Given the description of an element on the screen output the (x, y) to click on. 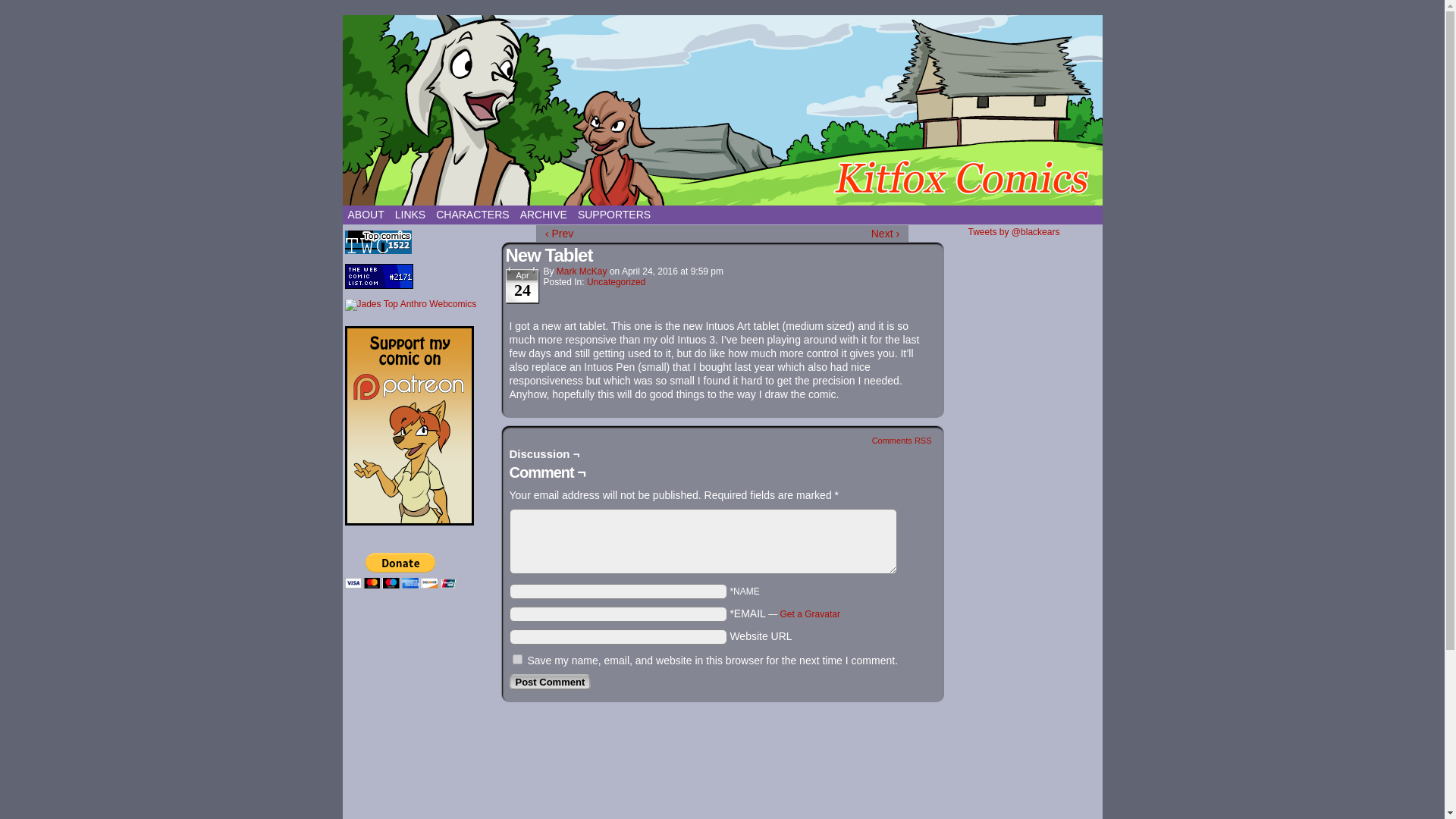
Mark McKay (581, 271)
SUPPORTERS (614, 214)
Comments RSS (901, 440)
Get a Gravatar (810, 614)
Post Comment (550, 682)
CHARACTERS (471, 214)
ABOUT (366, 214)
Advertisement (419, 805)
ARCHIVE (543, 214)
Vote for Kitfox Comics on TopWebComics! (376, 250)
LINKS (410, 214)
Post Comment (550, 682)
yes (517, 659)
Uncategorized (615, 281)
